Given the description of an element on the screen output the (x, y) to click on. 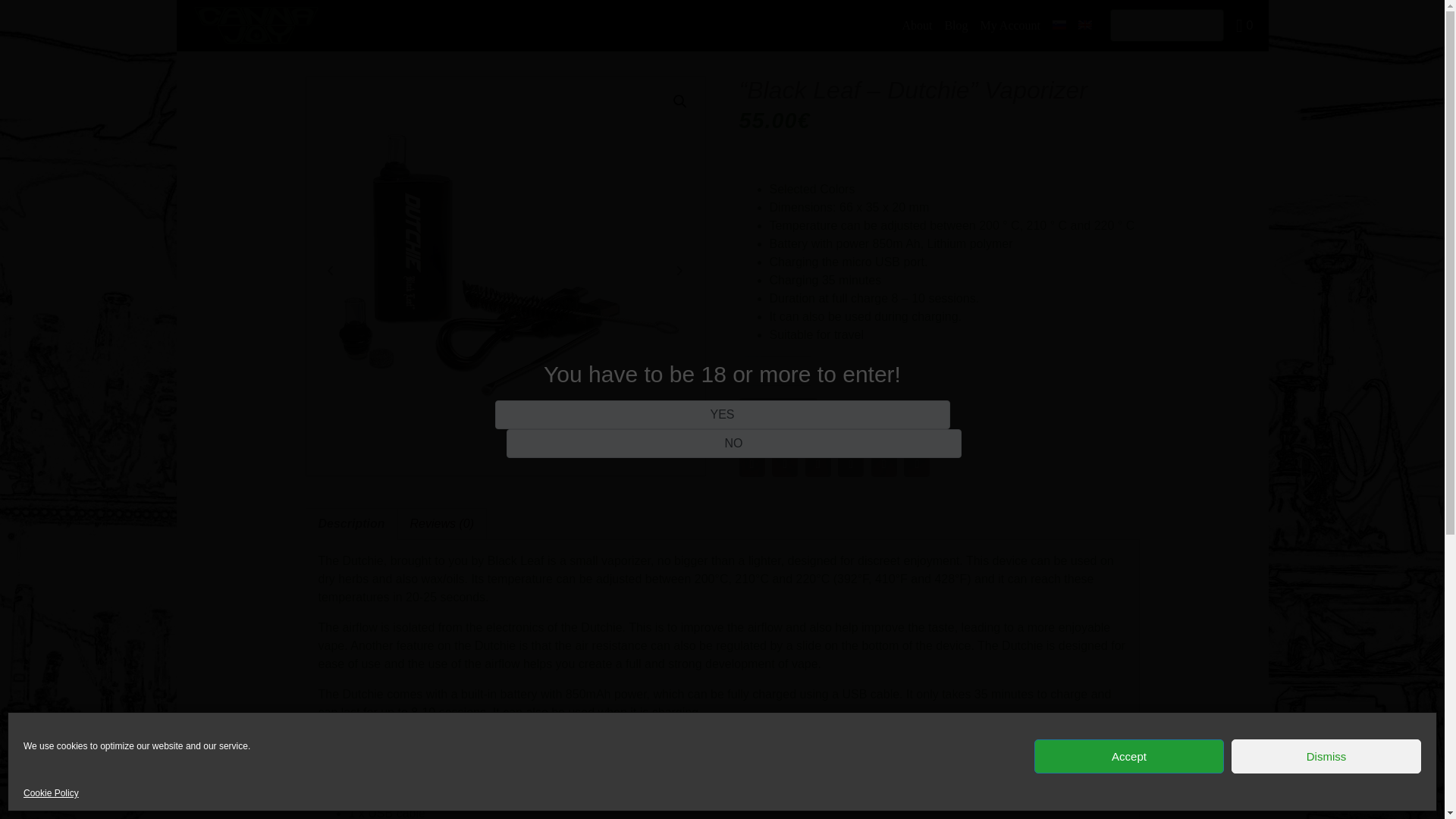
Accept (1128, 756)
Dismiss (1326, 756)
Home (207, 35)
NO (733, 443)
NO (733, 443)
Cookie Policy (50, 793)
Products (263, 35)
YES (722, 414)
Add to cart (777, 412)
0 (1244, 25)
YES (722, 414)
Description (351, 523)
- (749, 370)
About (916, 25)
